Given the description of an element on the screen output the (x, y) to click on. 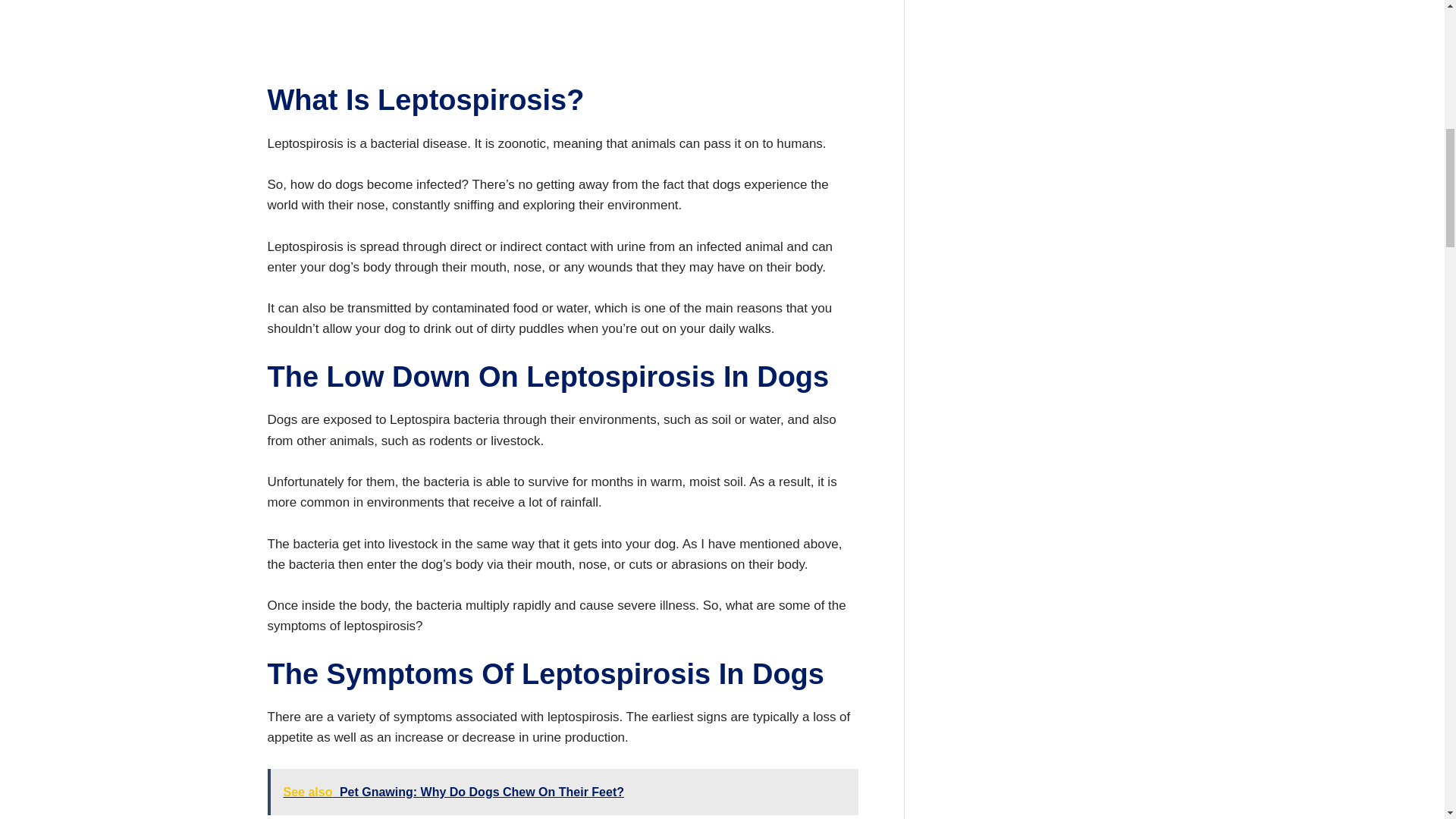
See also  Pet Gnawing: Why Do Dogs Chew On Their Feet? (561, 791)
